Given the description of an element on the screen output the (x, y) to click on. 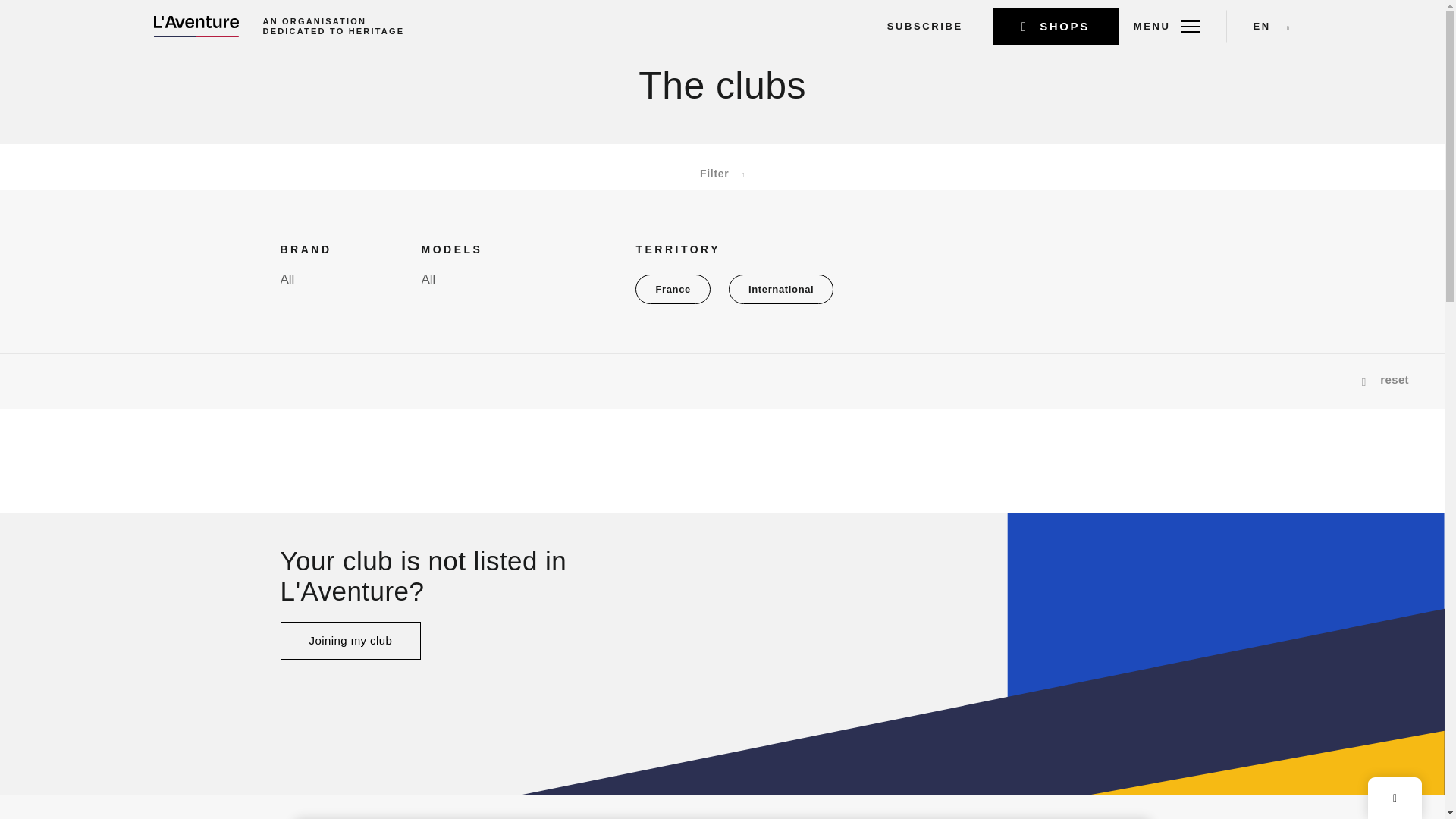
SHOPS (1055, 26)
SUBSCRIBE (924, 26)
MENU (1166, 26)
